Given the description of an element on the screen output the (x, y) to click on. 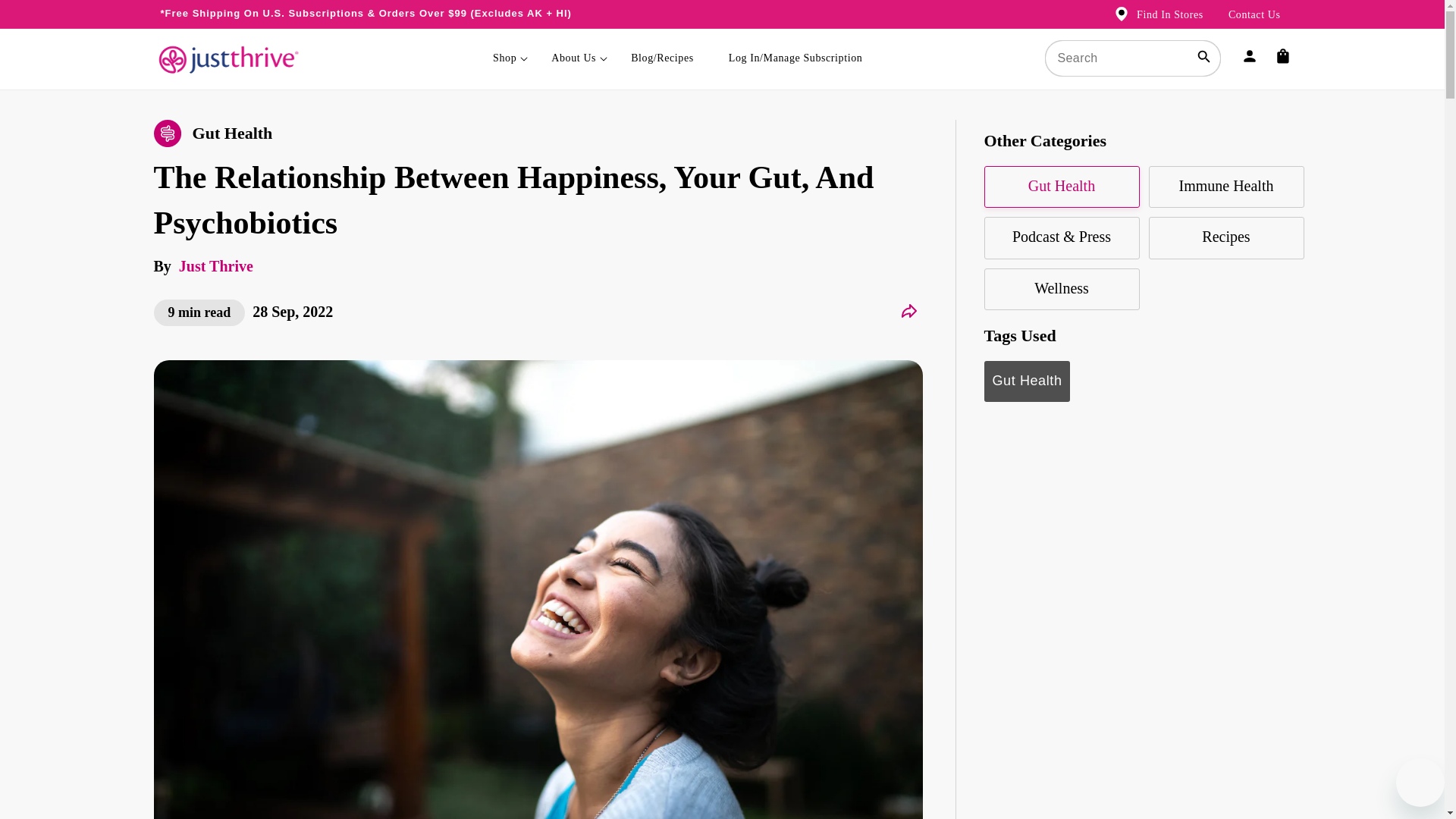
Find In Stores (1155, 18)
Skip to content (45, 17)
Contact Us (1254, 14)
Show articles tagged blog-nav-Gut Health (232, 132)
